Given the description of an element on the screen output the (x, y) to click on. 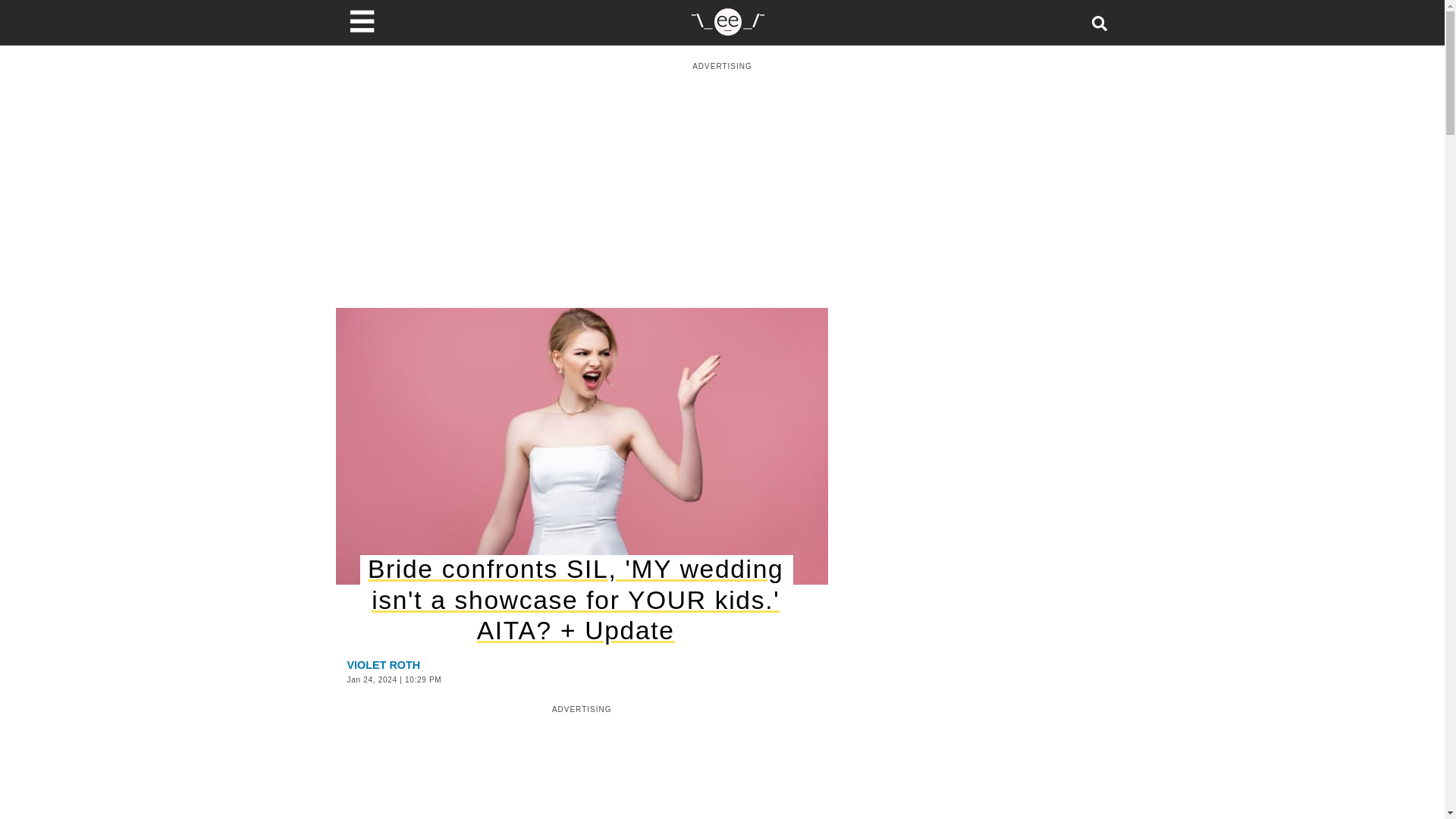
VIOLET ROTH (383, 664)
